Given the description of an element on the screen output the (x, y) to click on. 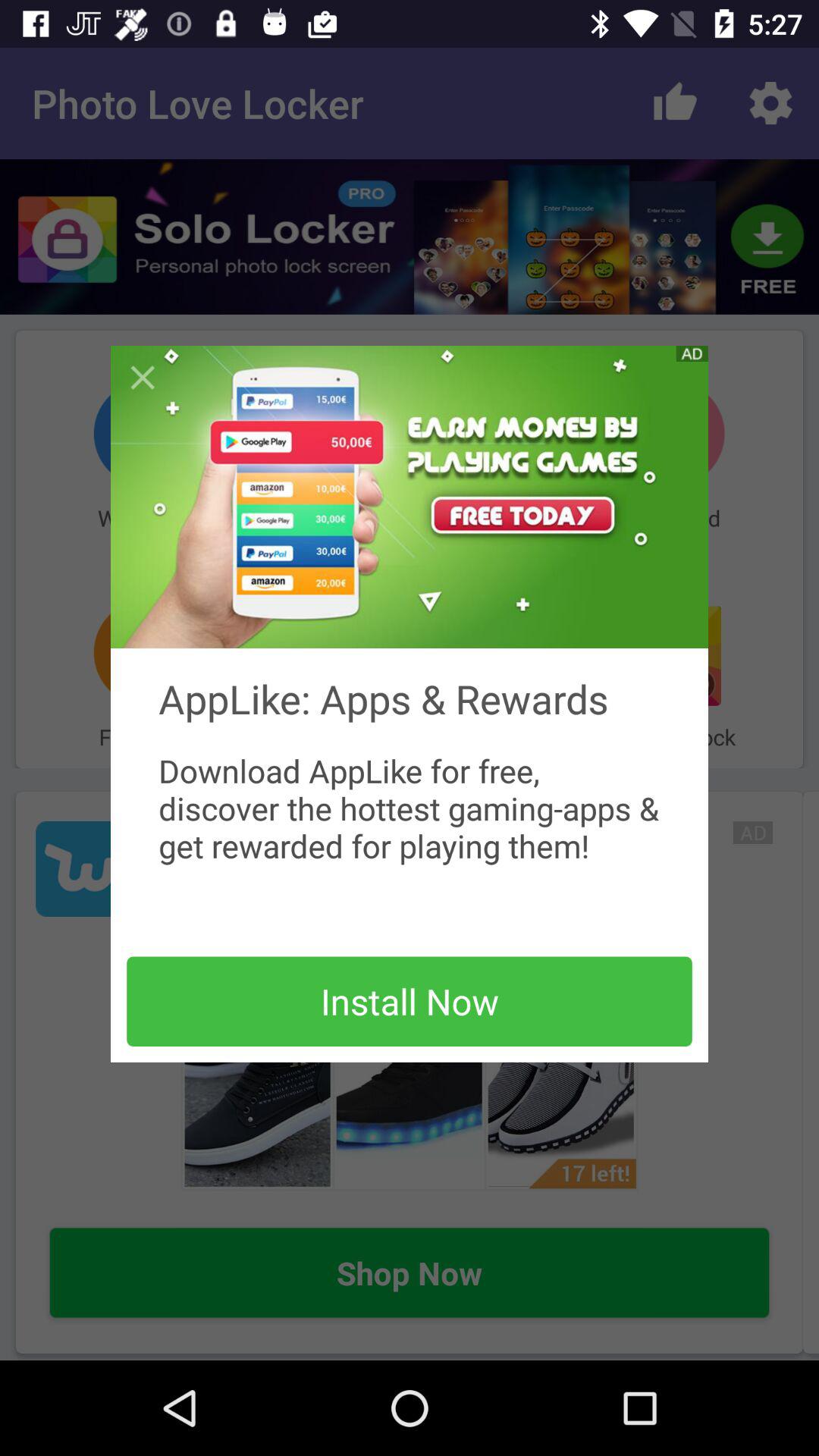
will close the pop up (142, 377)
